Given the description of an element on the screen output the (x, y) to click on. 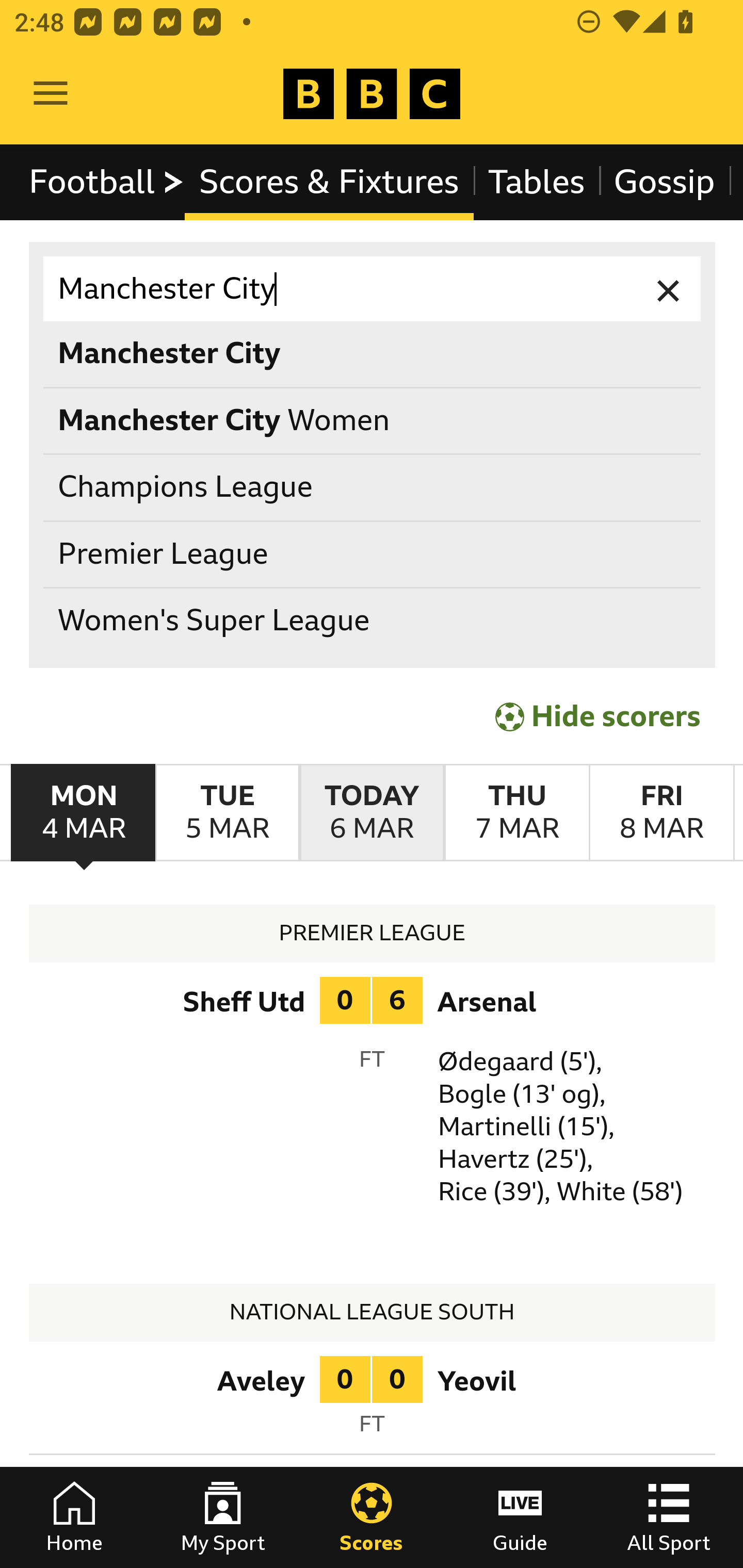
Open Menu (50, 93)
Football  (106, 181)
Scores & Fixtures (329, 181)
Tables (536, 181)
Gossip (664, 181)
Manchester City (372, 289)
Clear input (669, 289)
Manchester City Women Manchester City  Women (372, 419)
Champions League (372, 488)
Premier League (372, 554)
Women's Super League (372, 620)
Hide scorers (598, 716)
TuesdayMarch 5th Tuesday March 5th (227, 812)
TodayMarch 6th Today March 6th (371, 812)
ThursdayMarch 7th Thursday March 7th (516, 812)
FridayMarch 8th Friday March 8th (661, 812)
Home (74, 1517)
My Sport (222, 1517)
Guide (519, 1517)
All Sport (668, 1517)
